Given the description of an element on the screen output the (x, y) to click on. 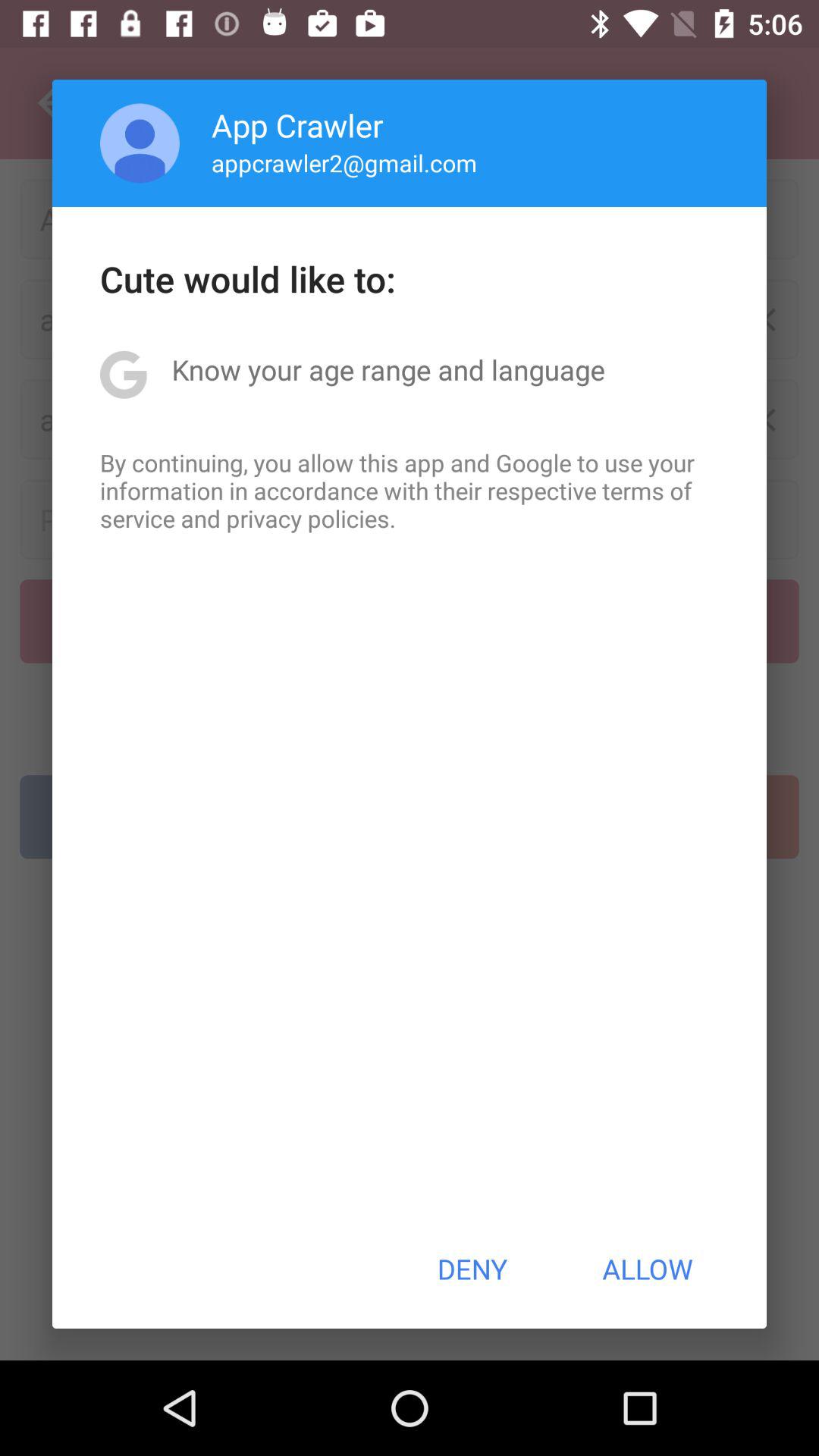
turn on item below app crawler (344, 162)
